Given the description of an element on the screen output the (x, y) to click on. 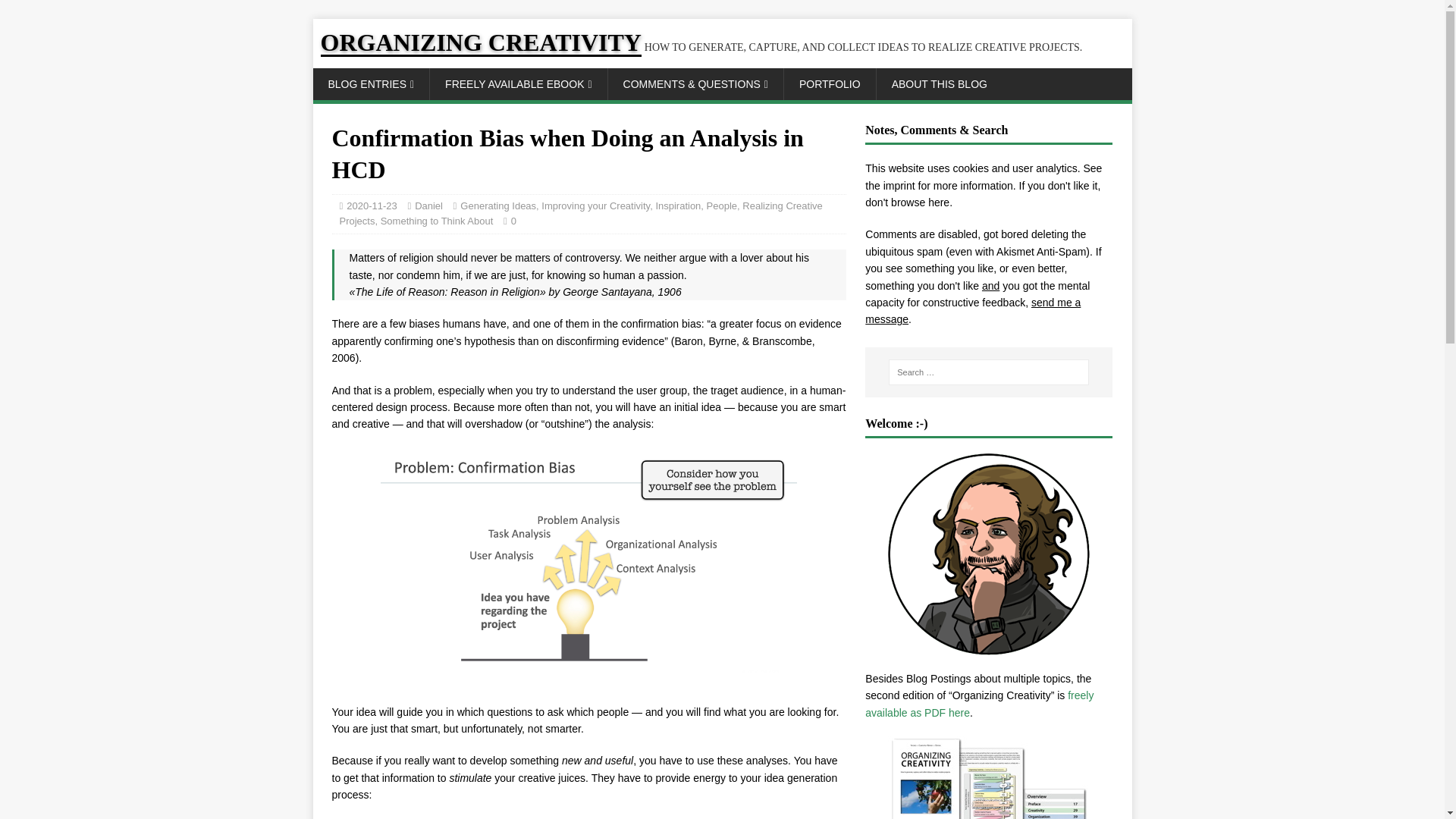
FREELY AVAILABLE EBOOK (518, 83)
ORGANIZING CREATIVITY (700, 46)
PORTFOLIO (829, 83)
2020-11-23 (371, 205)
BLOG ENTRIES (371, 83)
ABOUT THIS BLOG (939, 83)
